Given the description of an element on the screen output the (x, y) to click on. 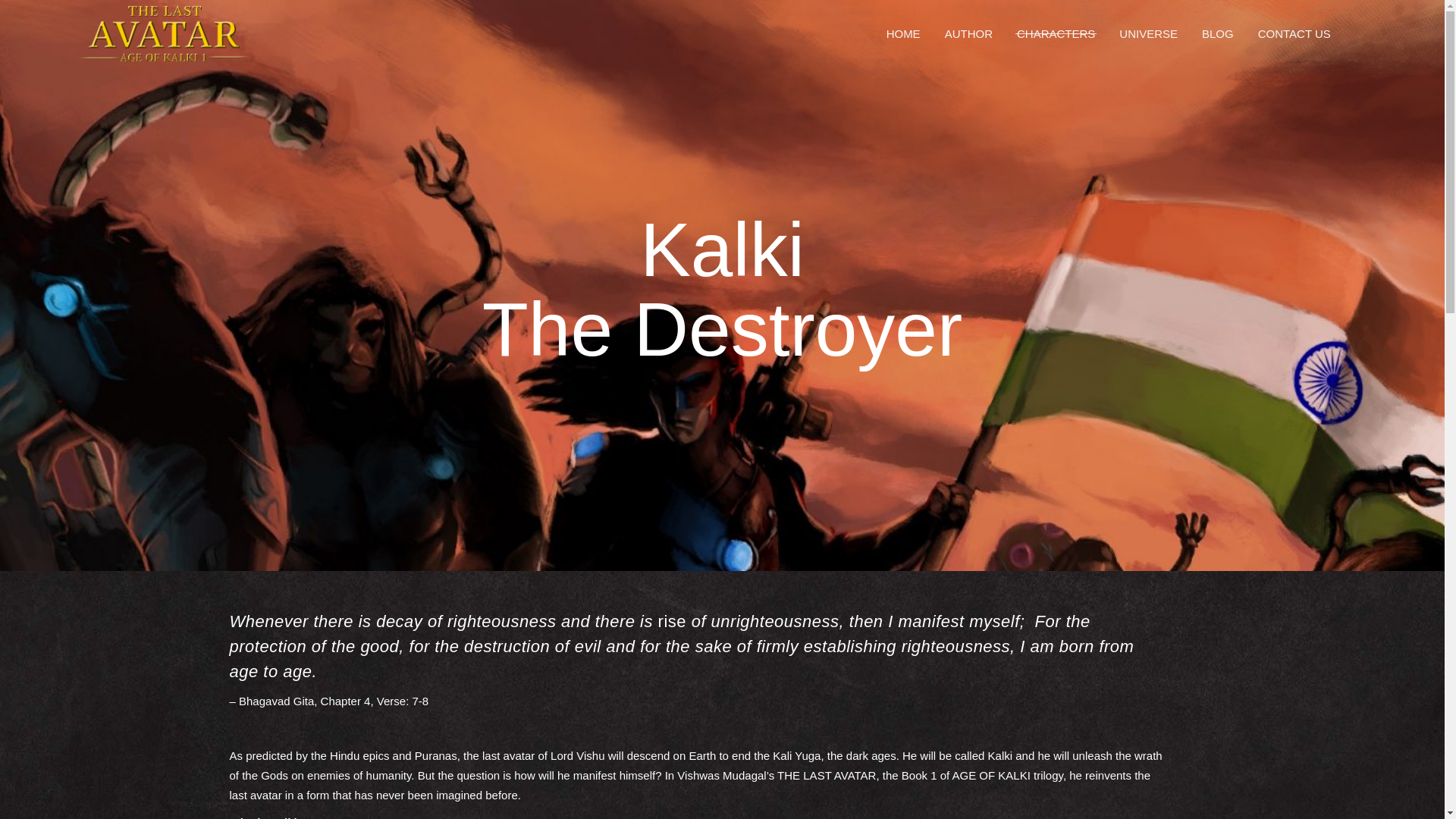
AUTHOR (968, 33)
UNIVERSE (1147, 33)
CONTACT US (1294, 33)
CHARACTERS (1055, 33)
HOME (904, 33)
BLOG (1217, 33)
